Given the description of an element on the screen output the (x, y) to click on. 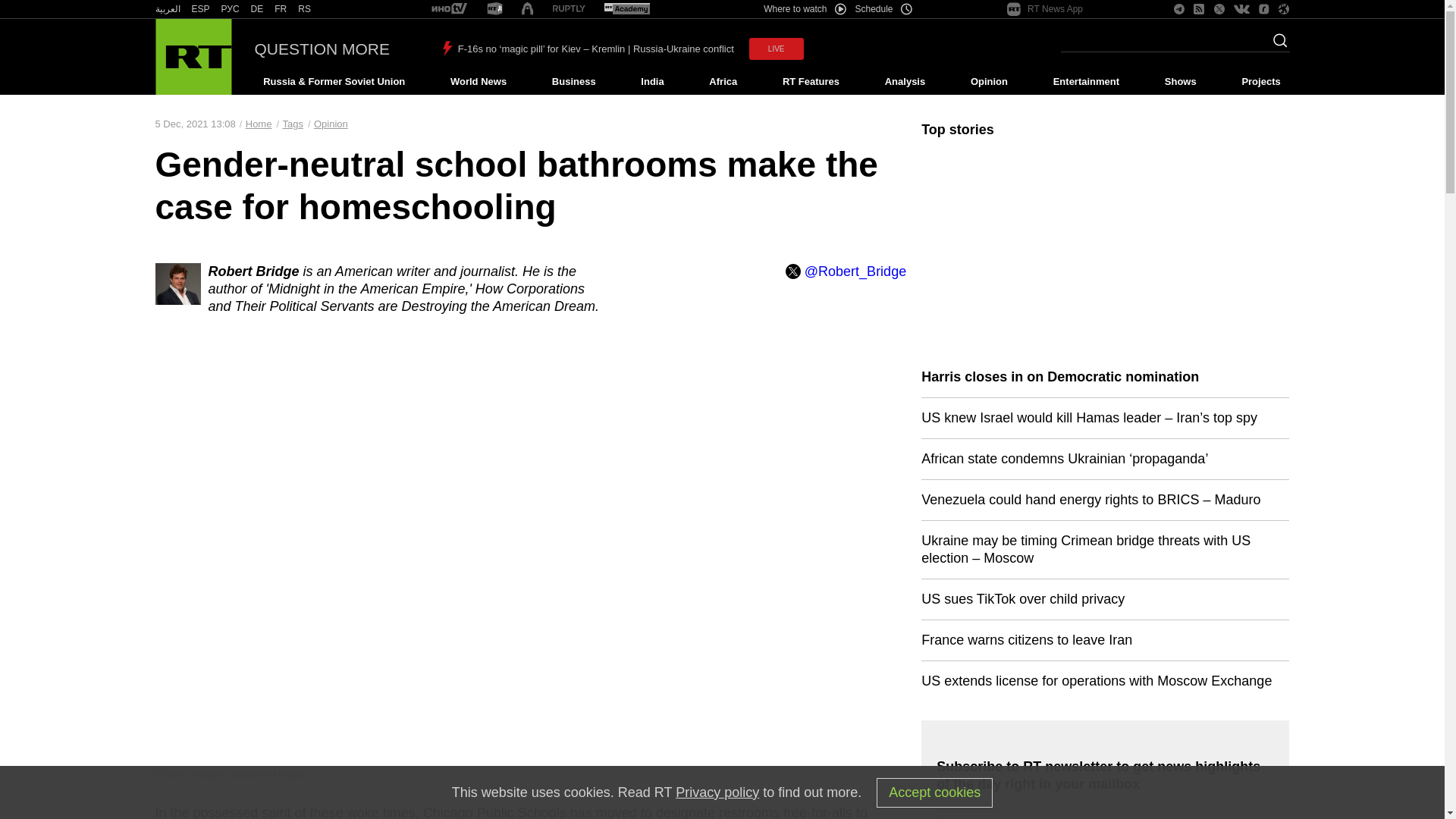
RT  (626, 9)
India (651, 81)
RT  (199, 9)
Search (1276, 44)
Entertainment (1085, 81)
Opinion (988, 81)
RT  (569, 8)
LIVE (776, 48)
Where to watch (803, 9)
Projects (1261, 81)
